Given the description of an element on the screen output the (x, y) to click on. 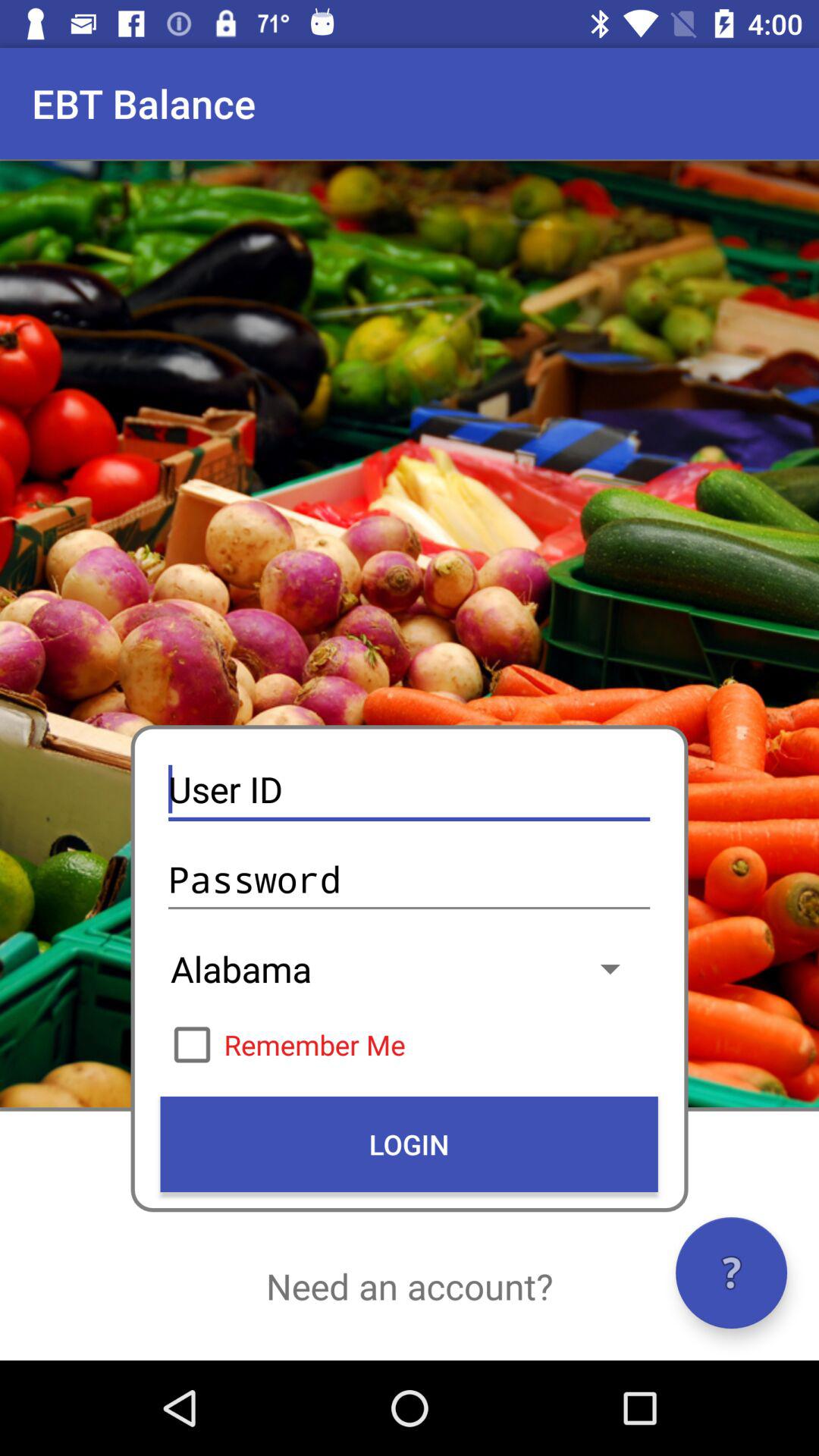
swipe to the remember me icon (409, 1044)
